Given the description of an element on the screen output the (x, y) to click on. 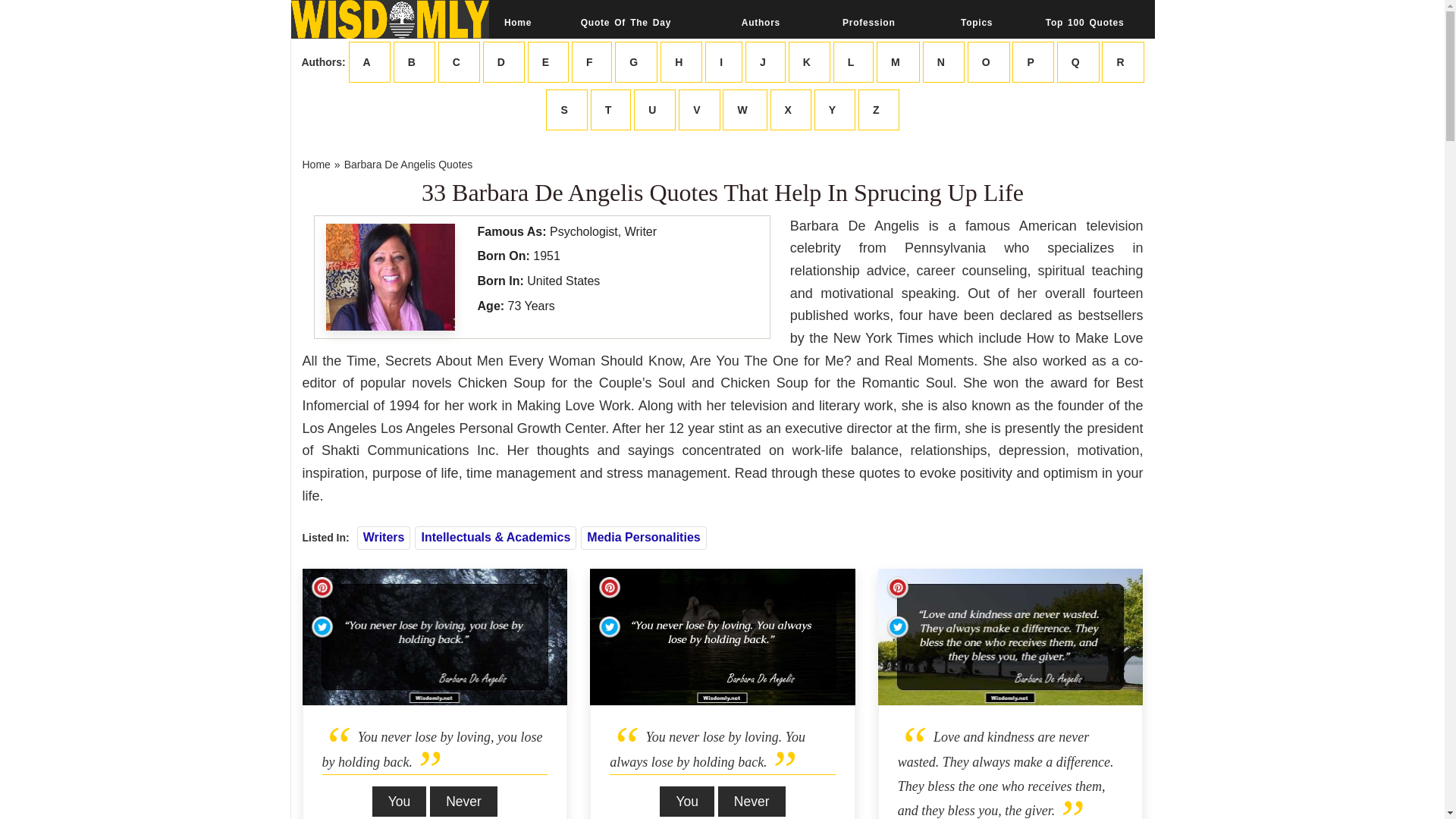
Z (879, 109)
U (654, 109)
N (943, 61)
S (566, 109)
H (681, 61)
Never (751, 801)
T (611, 109)
E (548, 61)
J (765, 61)
Top 100 Quotes (1084, 22)
D (503, 61)
P (1031, 61)
W (744, 109)
Writers (383, 536)
L (853, 61)
